Given the description of an element on the screen output the (x, y) to click on. 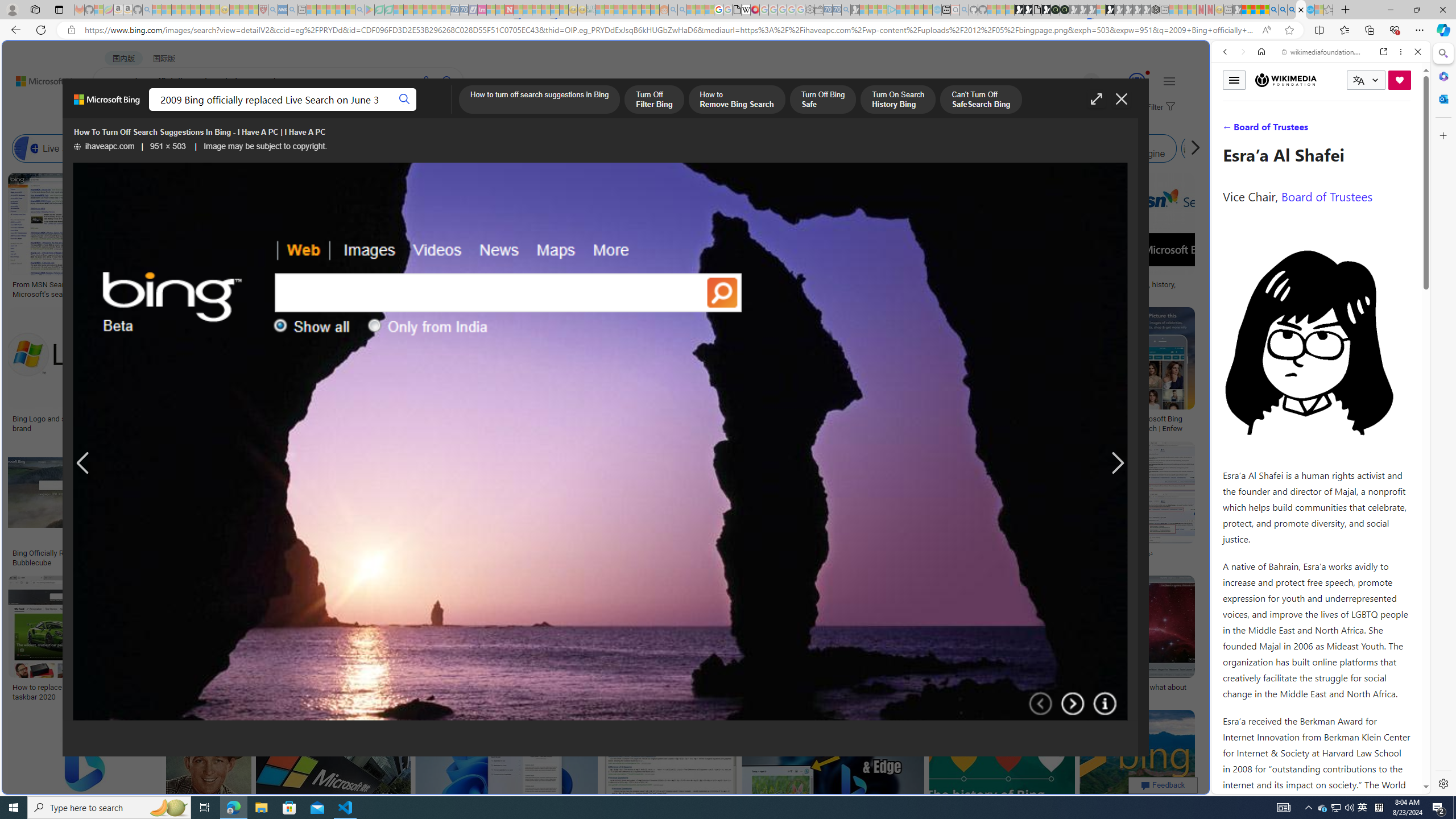
Open link in new tab (1383, 51)
Turn On Search History Bing (898, 100)
Future Focus Report 2024 (1064, 9)
How to turn off search suggestions in Bing (539, 100)
